Given the description of an element on the screen output the (x, y) to click on. 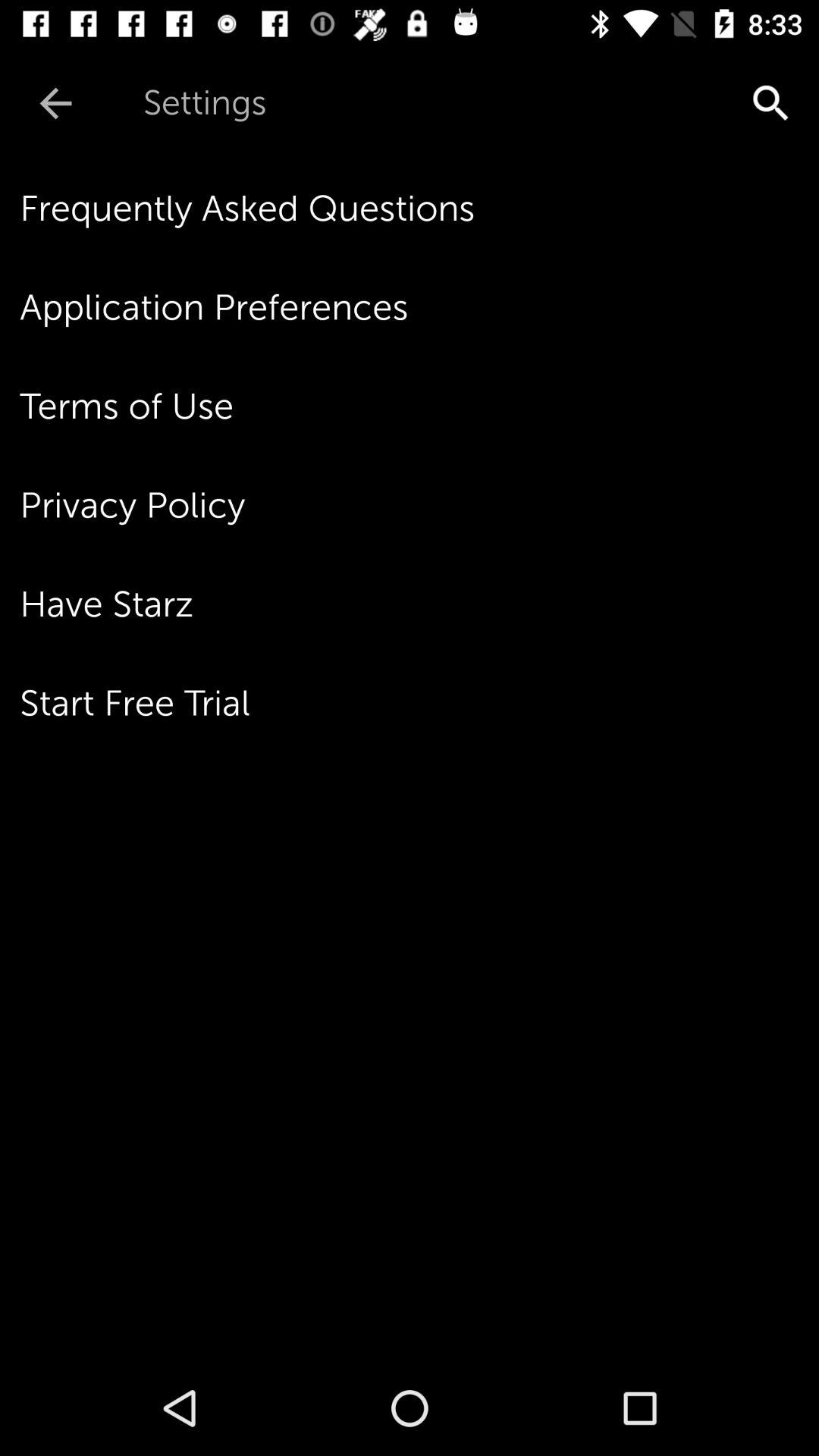
press have starz icon (419, 604)
